Given the description of an element on the screen output the (x, y) to click on. 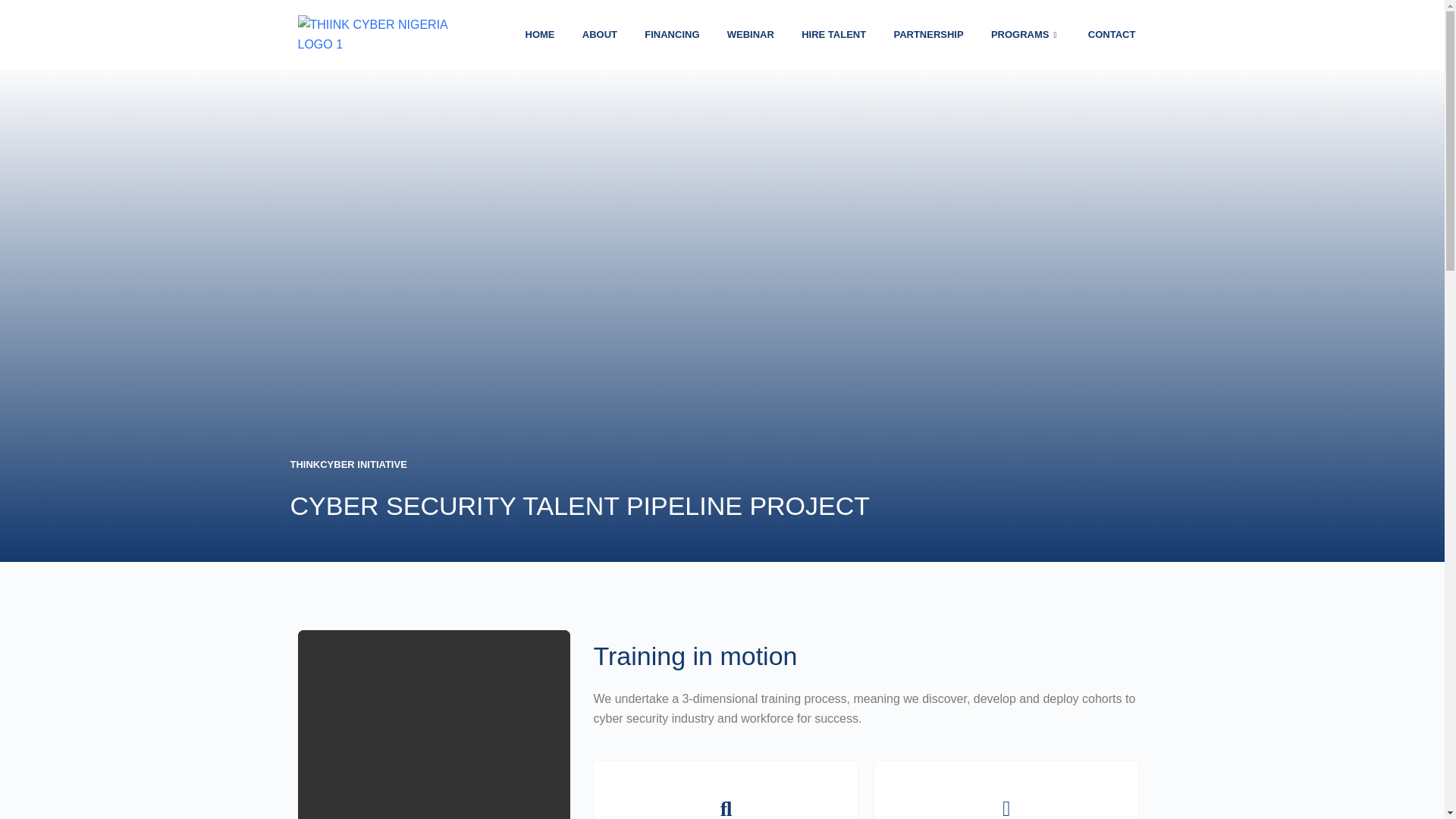
FINANCING (671, 34)
HIRE TALENT (833, 34)
THIINK CYBER NIGERIA LOGO 1 (375, 35)
PARTNERSHIP (928, 34)
HOME (539, 34)
PROGRAMS (1025, 34)
WEBINAR (751, 34)
CONTACT (1112, 34)
ABOUT (599, 34)
